Given the description of an element on the screen output the (x, y) to click on. 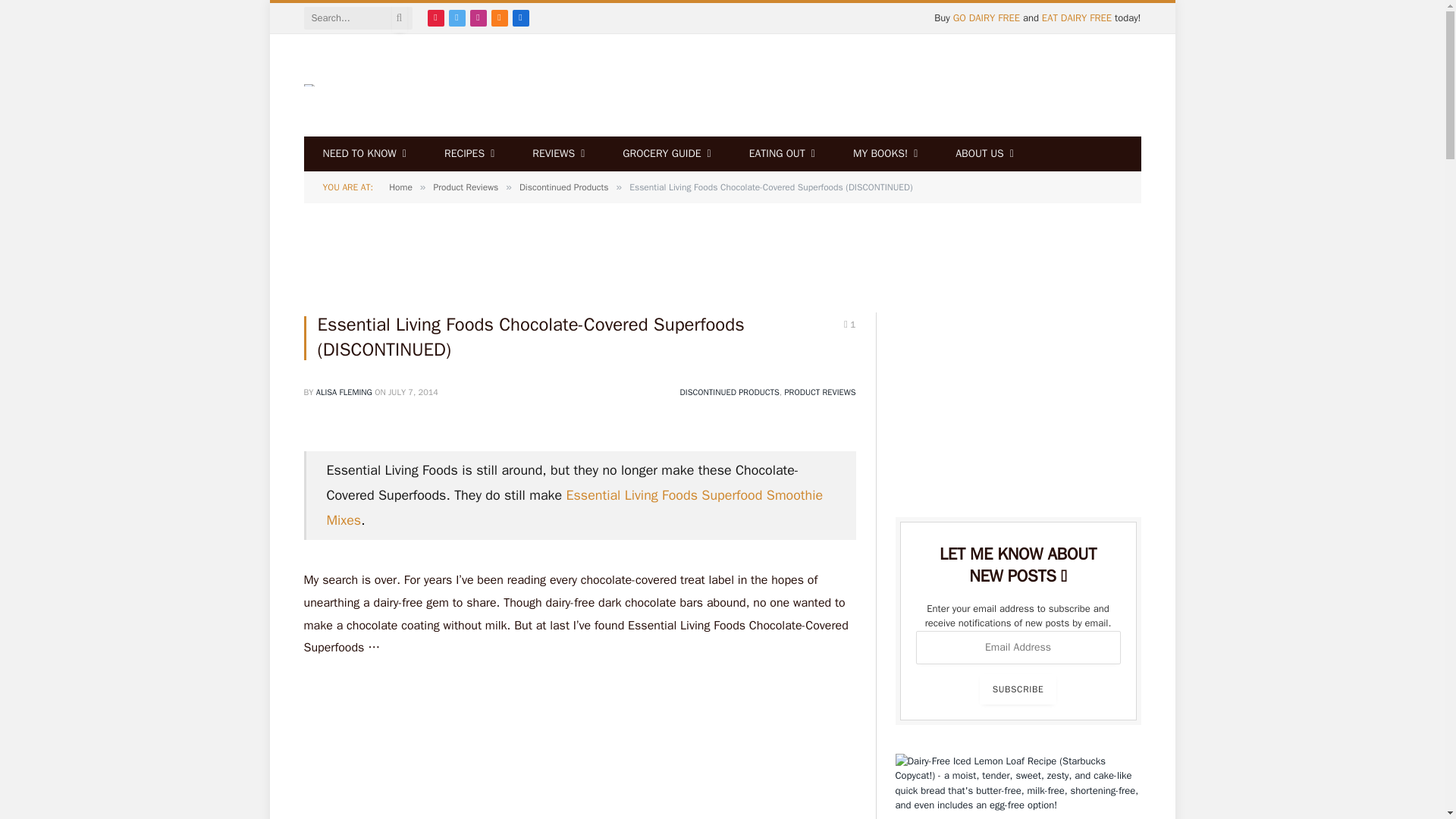
Facebook (520, 17)
RECIPES (469, 153)
GO DAIRY FREE (986, 17)
Your Dairy-Free Grocery Shopping Guide (666, 153)
Restaurant Guide for Food Allergies, Vegans, and More (782, 153)
RSS (500, 17)
Pinterest (436, 17)
EAT DAIRY FREE (1077, 17)
NEED TO KNOW (363, 153)
Instagram (478, 17)
